Given the description of an element on the screen output the (x, y) to click on. 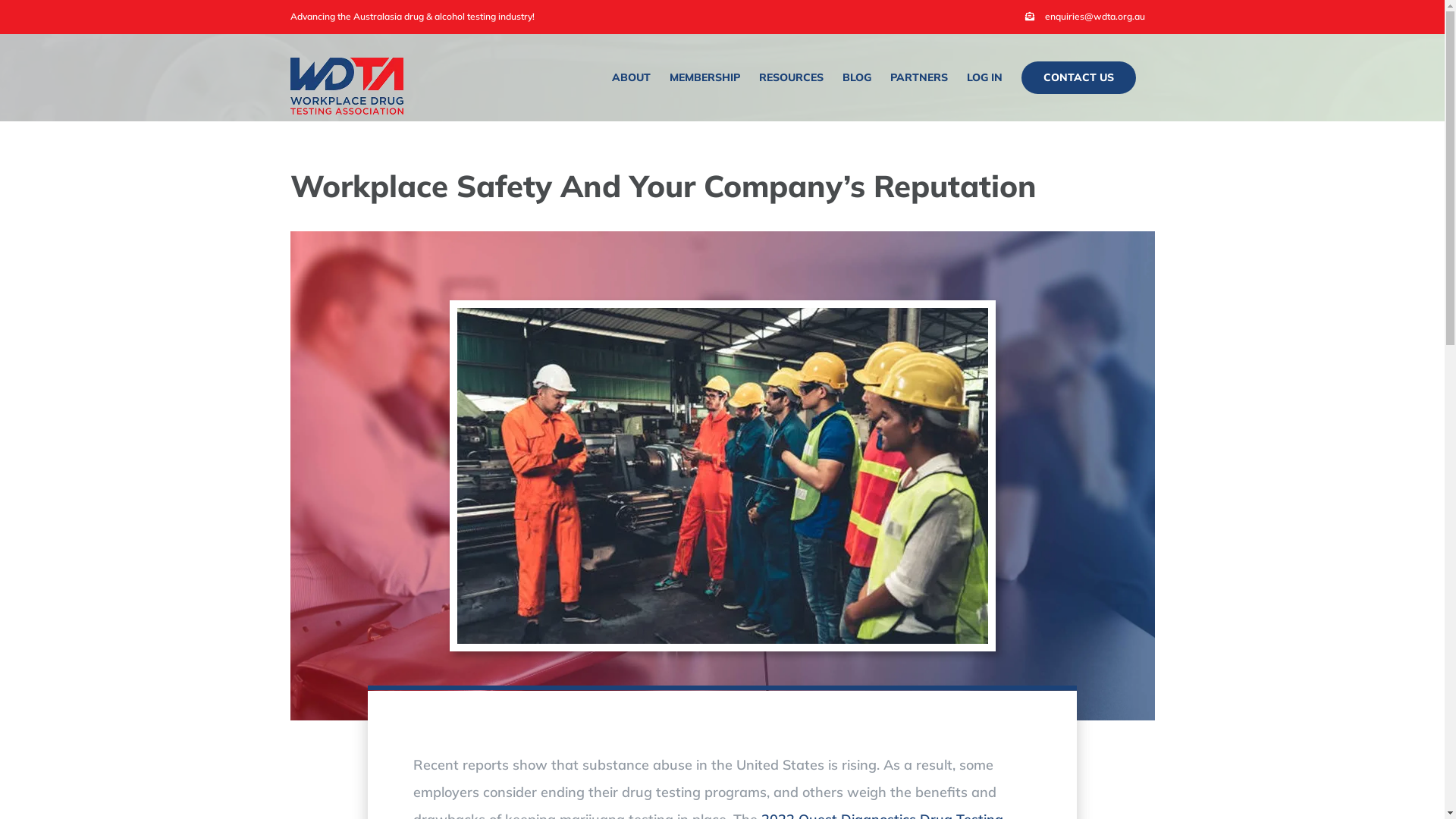
enquiries@wdta.org.au Element type: text (1084, 16)
RESOURCES Element type: text (790, 77)
MEMBERSHIP Element type: text (703, 77)
PARTNERS Element type: text (918, 77)
LOG IN Element type: text (983, 77)
ABOUT Element type: text (630, 77)
CONTACT US Element type: text (1077, 77)
BLOG Element type: text (855, 77)
